Given the description of an element on the screen output the (x, y) to click on. 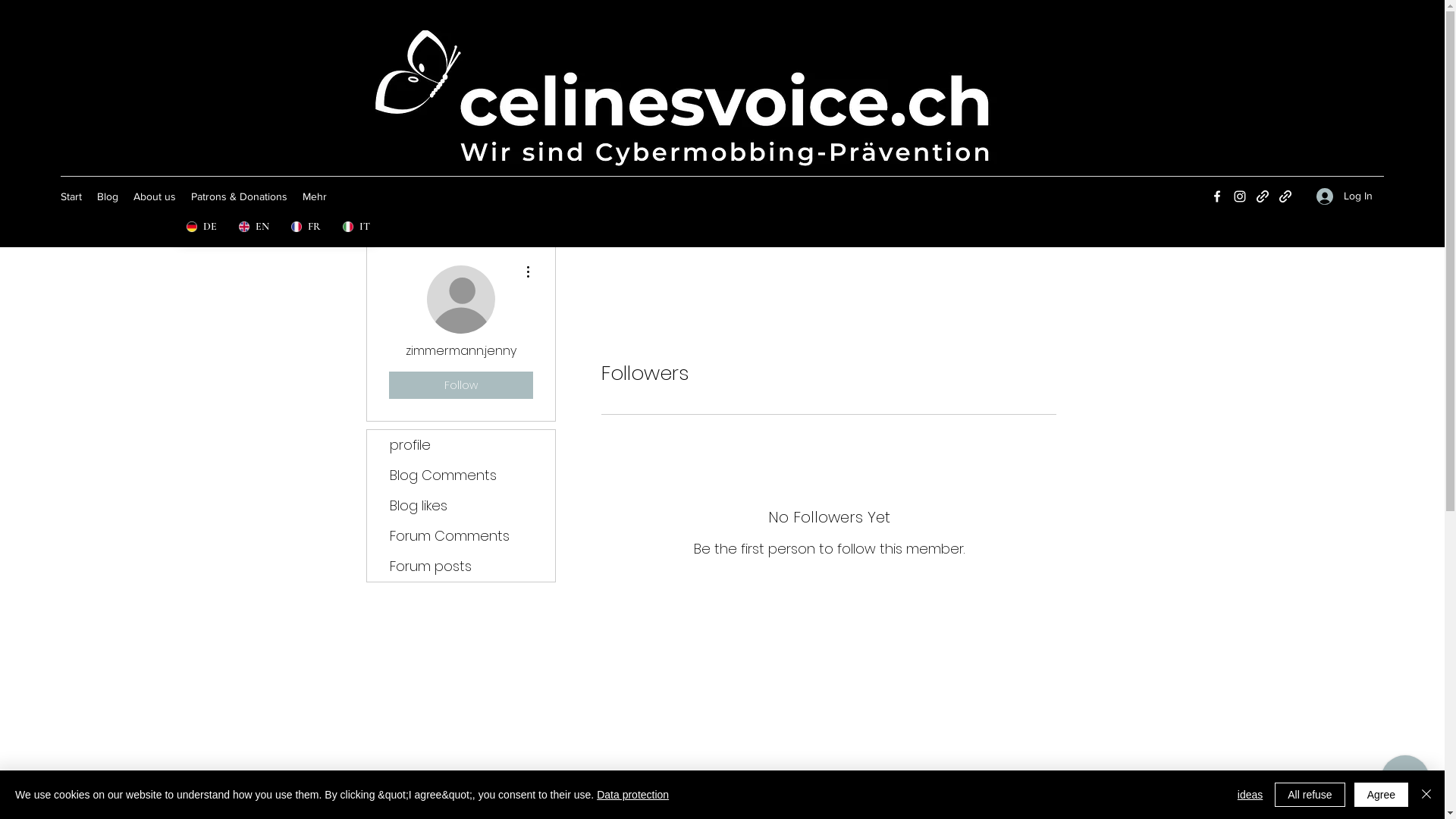
All refuse Element type: text (1309, 794)
Log In Element type: text (1344, 196)
Blog likes Element type: text (461, 505)
DE Element type: text (201, 226)
About us Element type: text (154, 196)
Data protection Element type: text (632, 794)
Agree Element type: text (1381, 794)
Forum posts Element type: text (461, 566)
EN Element type: text (253, 226)
IT Element type: text (354, 226)
FR Element type: text (304, 226)
Forum Comments Element type: text (461, 535)
Blog Element type: text (107, 196)
Follow Element type: text (460, 384)
profile Element type: text (461, 444)
Blog Comments Element type: text (461, 475)
Patrons & Donations Element type: text (238, 196)
Start Element type: text (71, 196)
